Given the description of an element on the screen output the (x, y) to click on. 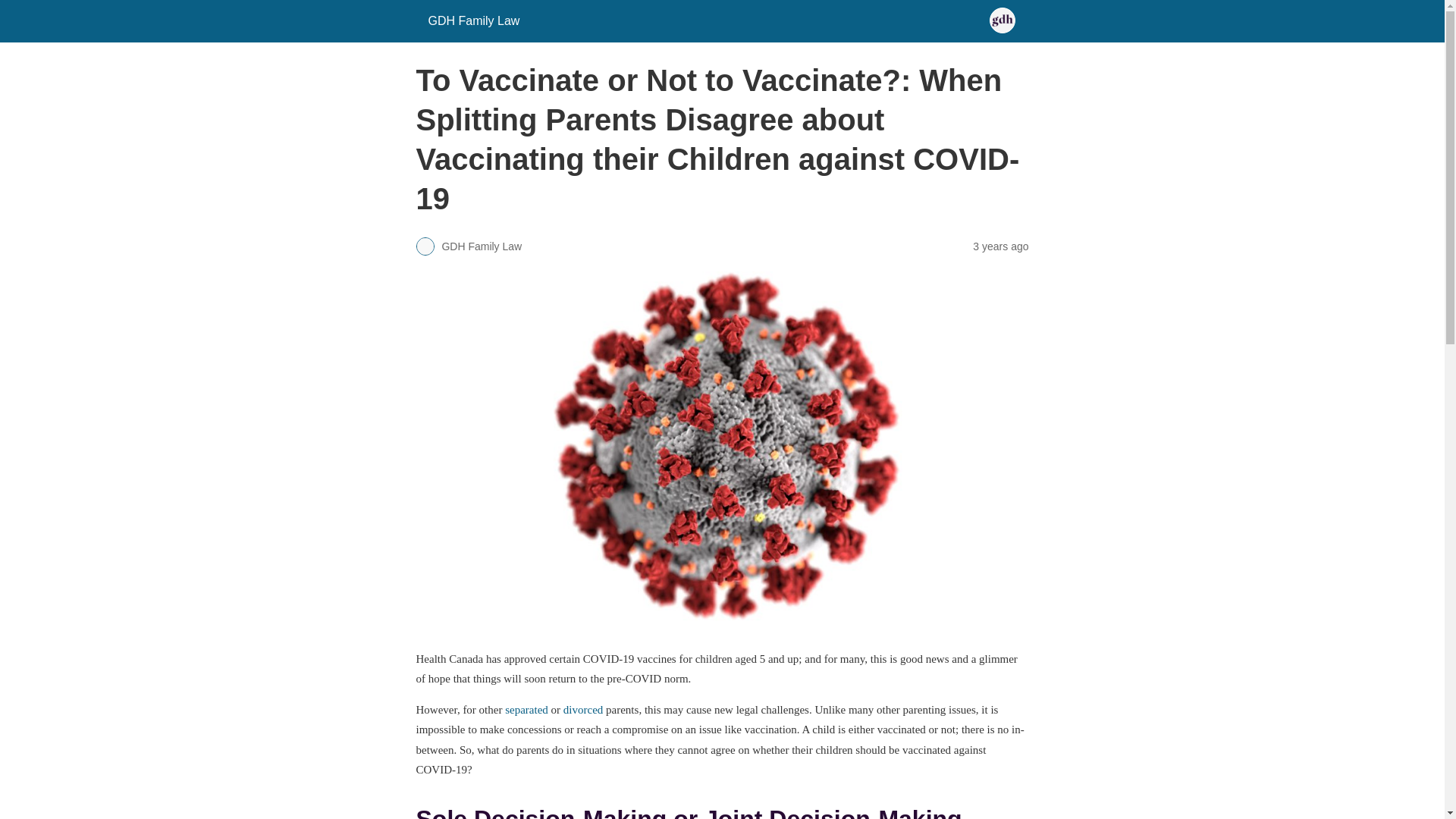
divorced (582, 709)
separated (526, 709)
GDH Family Law (473, 20)
